Given the description of an element on the screen output the (x, y) to click on. 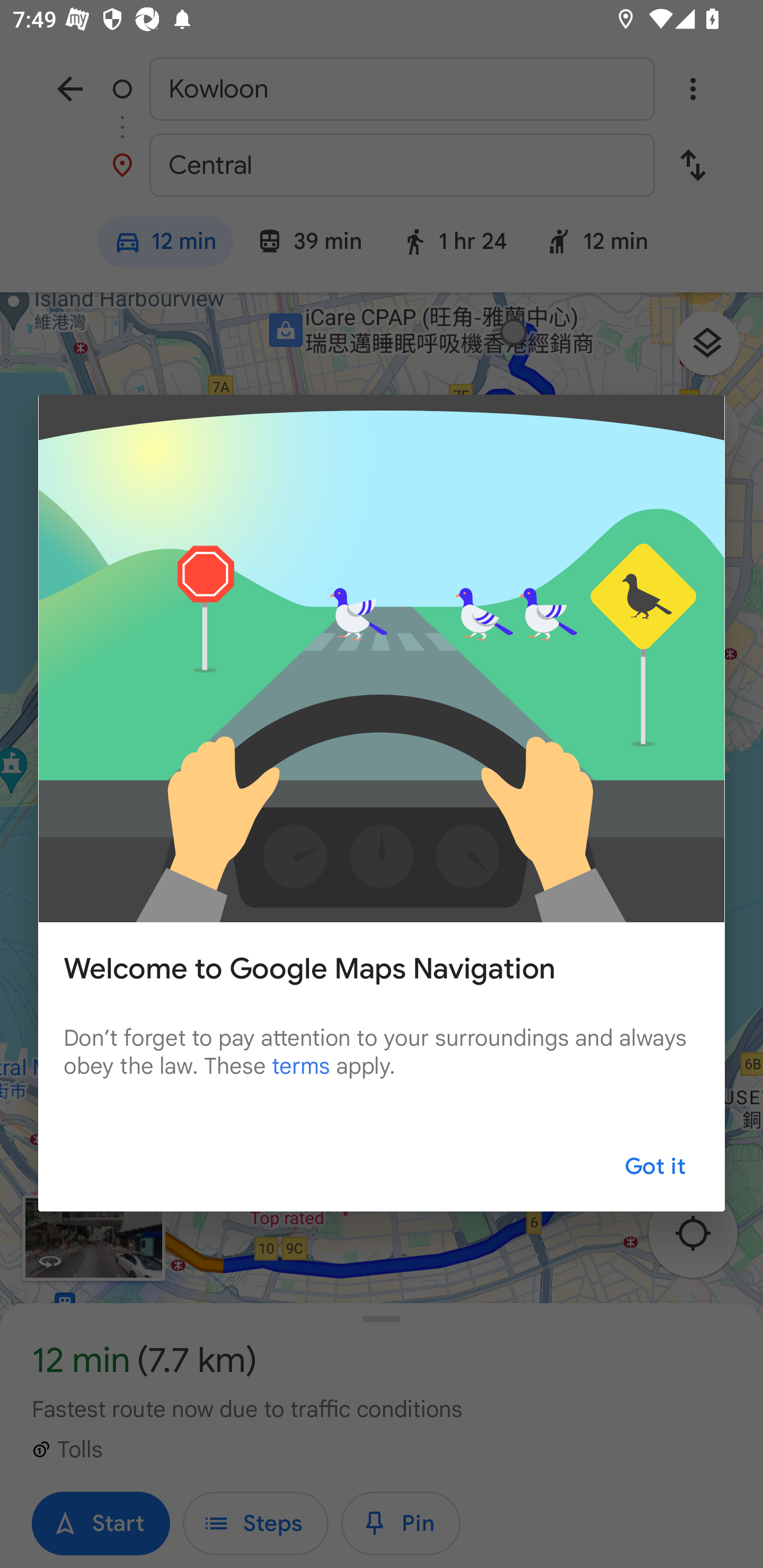
Got it (654, 1166)
